Given the description of an element on the screen output the (x, y) to click on. 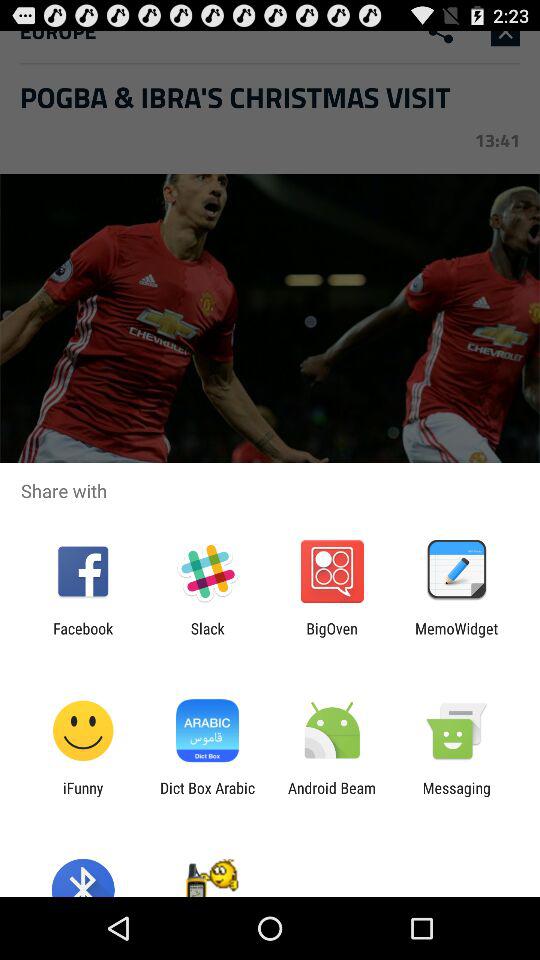
swipe until android beam icon (332, 796)
